Given the description of an element on the screen output the (x, y) to click on. 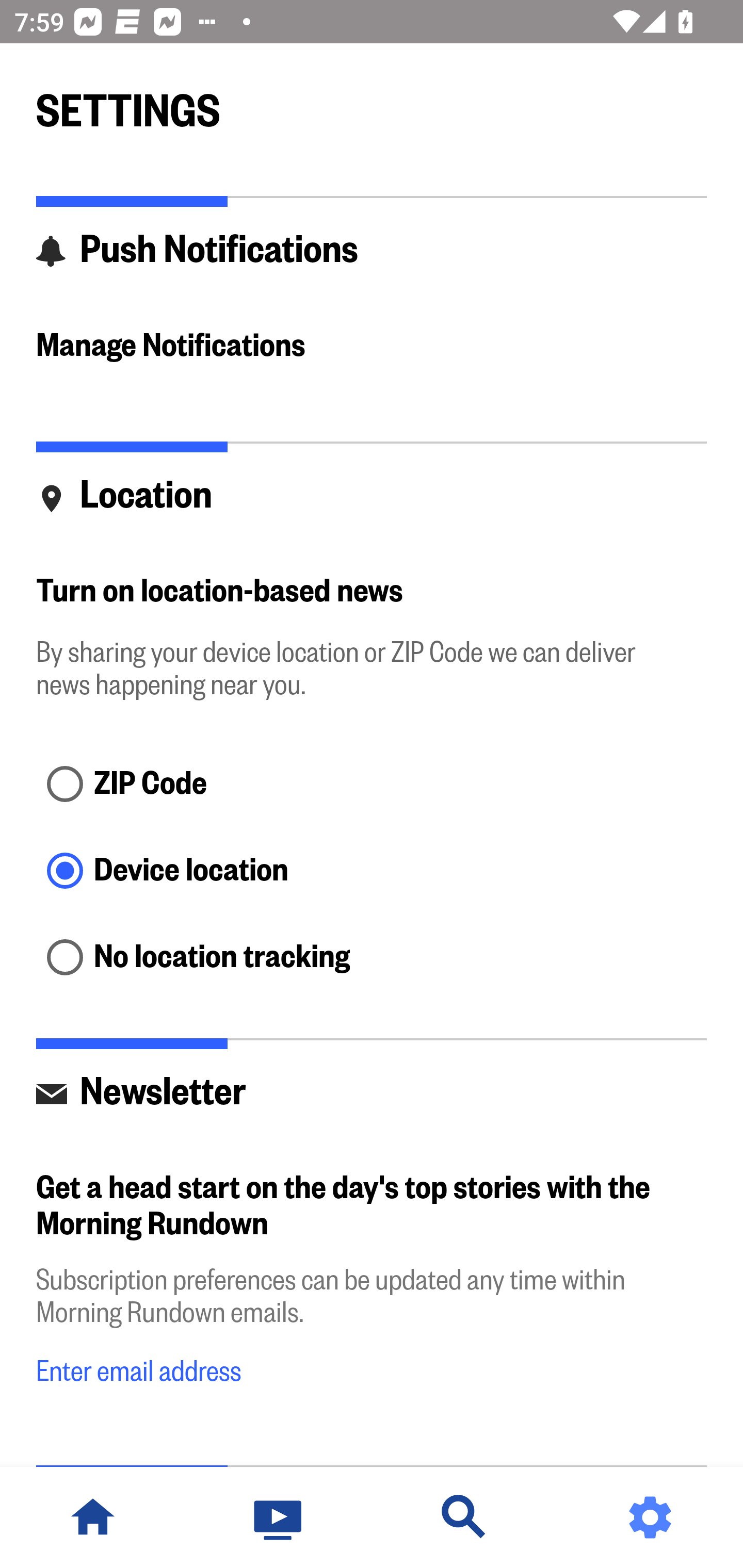
SETTINGS (371, 101)
Manage Notifications (371, 346)
ZIP Code (371, 785)
Device location (371, 872)
No location tracking (371, 958)
NBC News Home (92, 1517)
Watch (278, 1517)
Discover (464, 1517)
